Given the description of an element on the screen output the (x, y) to click on. 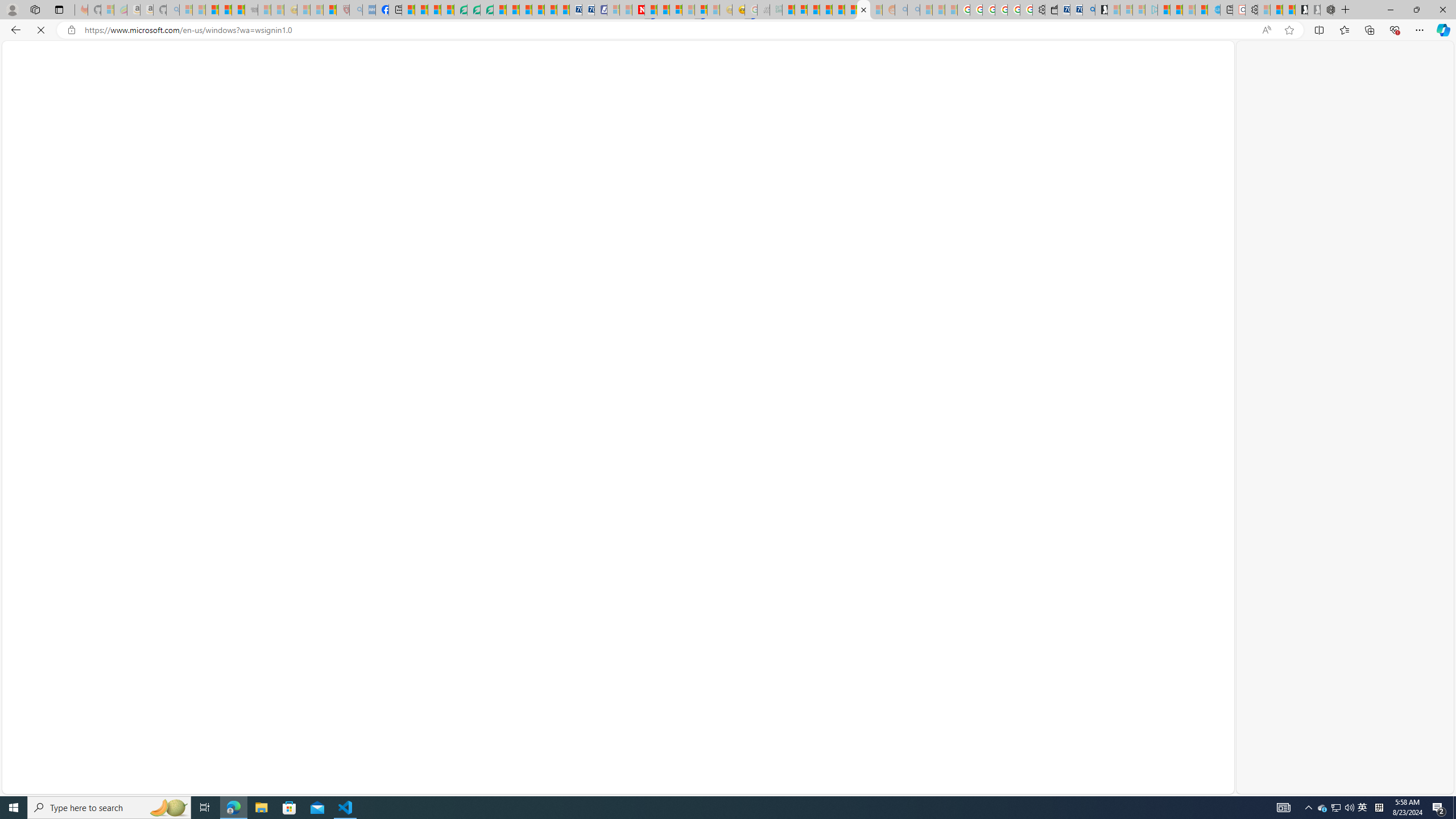
The Weather Channel - MSN (212, 9)
Student Loan Update: Forgiveness Program Ends This Month (826, 9)
